Given the description of an element on the screen output the (x, y) to click on. 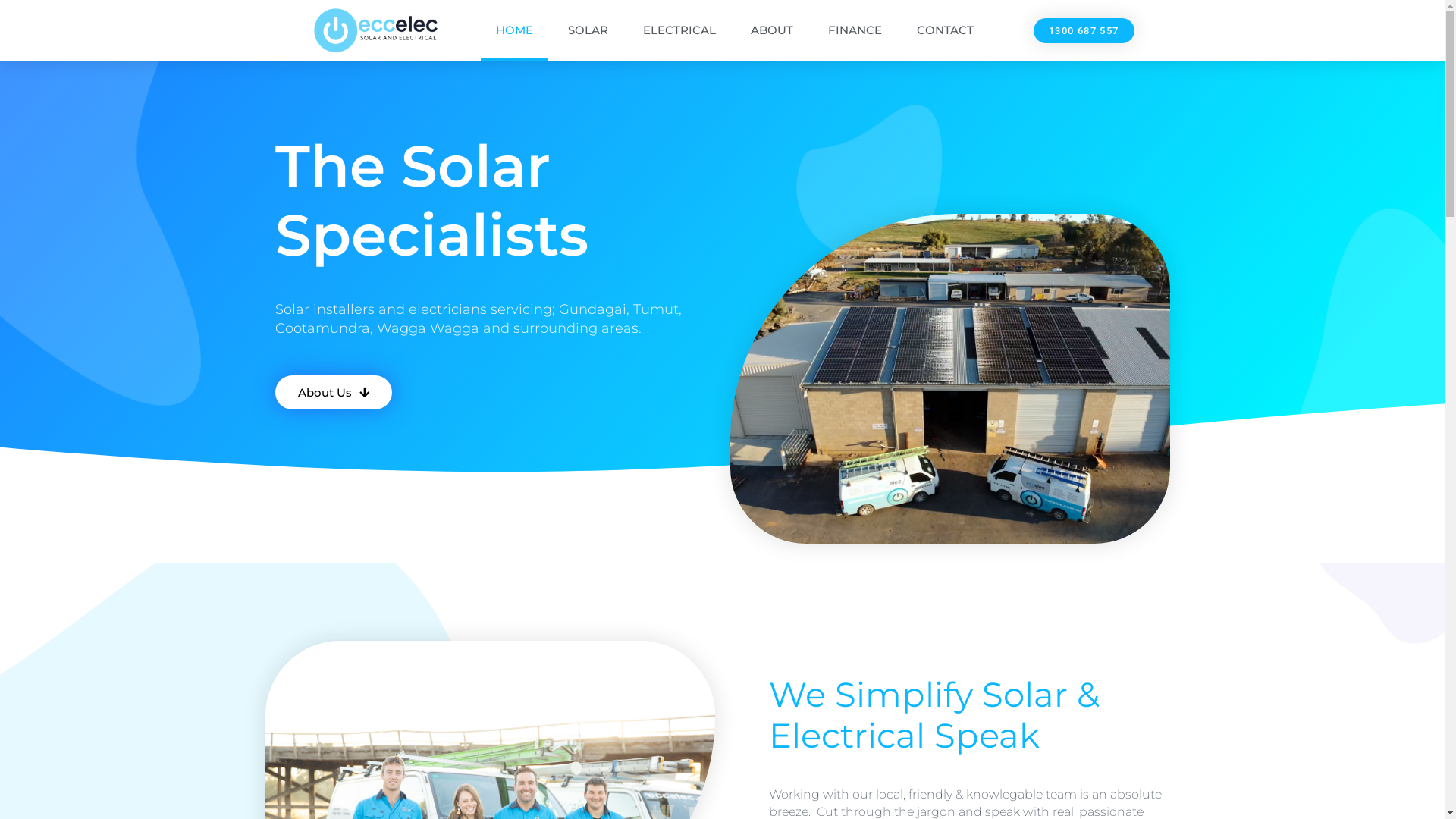
SOLAR Element type: text (587, 30)
ELECTRICAL Element type: text (679, 30)
About Us Element type: text (332, 392)
1300 687 557 Element type: text (1083, 30)
HOME Element type: text (514, 30)
CONTACT Element type: text (944, 30)
ABOUT Element type: text (771, 30)
FINANCE Element type: text (854, 30)
